Given the description of an element on the screen output the (x, y) to click on. 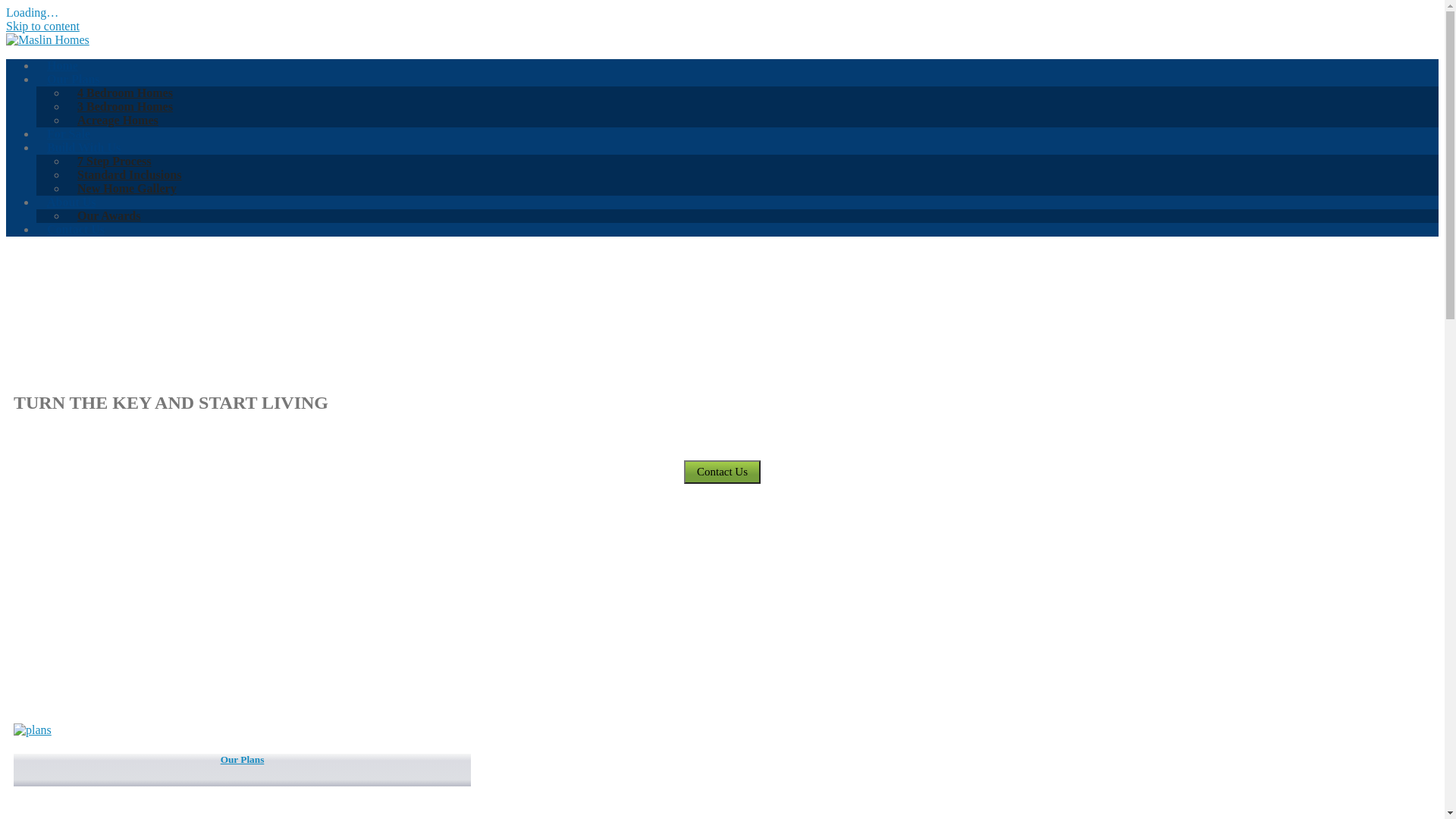
For Sale Element type: text (68, 133)
Build With Us Element type: text (83, 147)
Standard Inclusions Element type: text (128, 174)
4 Bedroom Homes Element type: text (124, 92)
Maslin Homes Element type: hover (47, 39)
3 Bedroom Homes Element type: text (124, 106)
Our Awards Element type: text (108, 215)
New Home Gallery Element type: text (126, 188)
7 Step Process Element type: text (113, 161)
Contact Us Element type: text (722, 471)
Our Plans Element type: text (241, 769)
Contact Us Element type: text (75, 229)
Acreage Homes Element type: text (117, 120)
Our Plans Element type: text (73, 79)
Skip to content Element type: text (42, 25)
About Us Element type: text (71, 202)
Home Element type: text (62, 65)
